Given the description of an element on the screen output the (x, y) to click on. 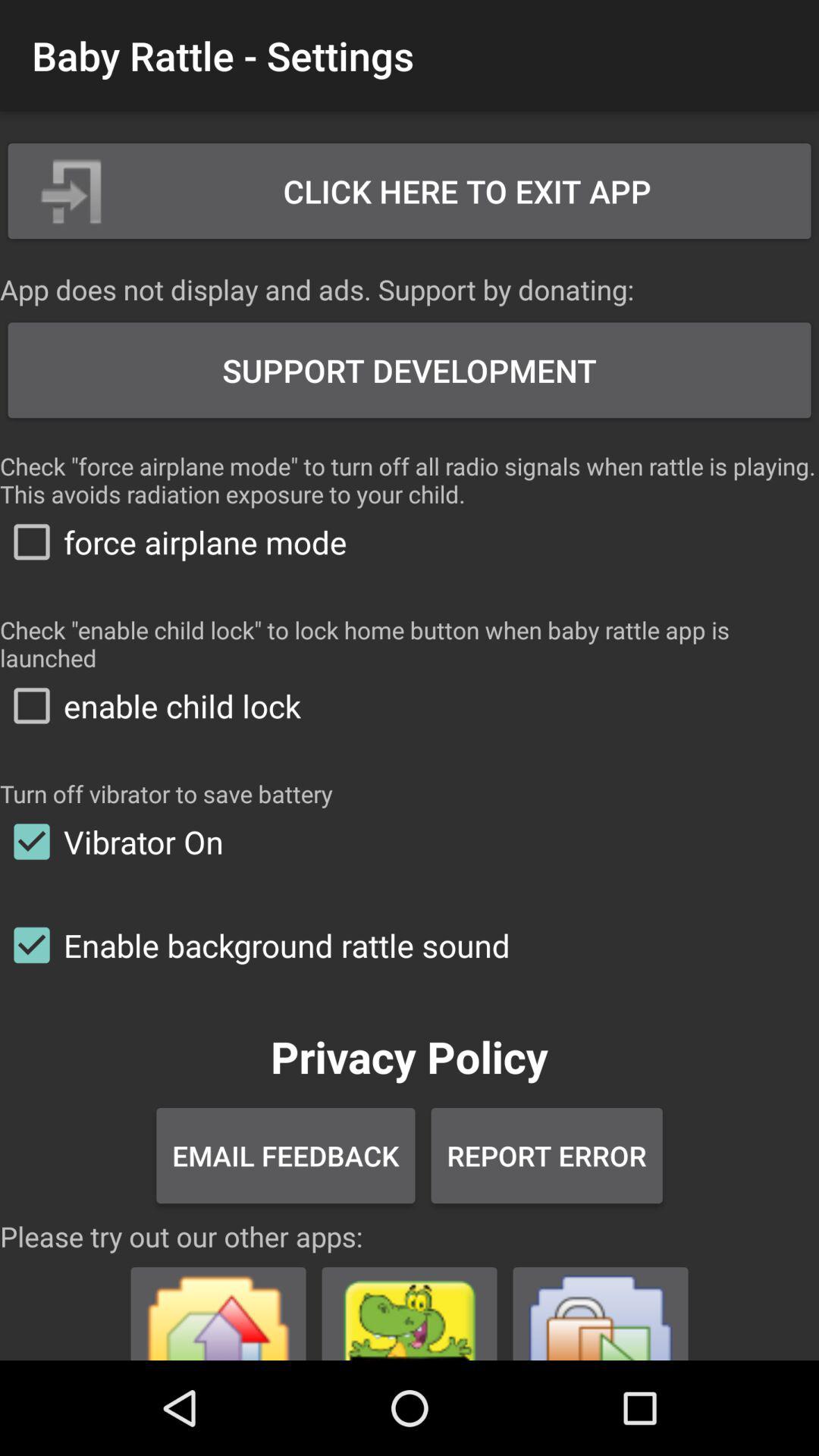
open new app (217, 1307)
